Given the description of an element on the screen output the (x, y) to click on. 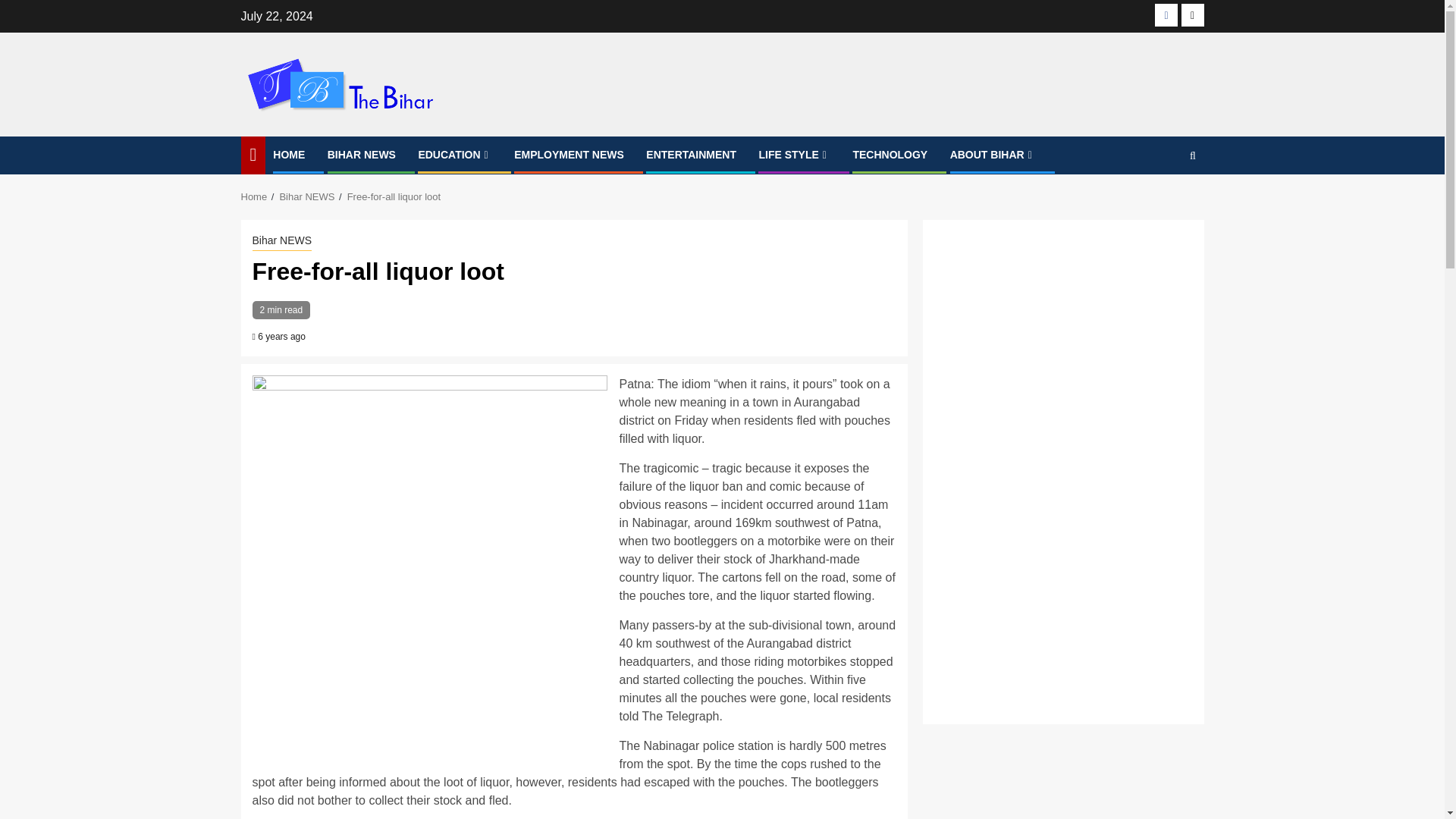
Bihar NEWS (281, 240)
Free-for-all liquor loot (394, 196)
Facebook (1165, 15)
Search (1163, 201)
LIFE STYLE (793, 154)
Home (254, 196)
BIHAR NEWS (361, 154)
EDUCATION (454, 154)
Twitter (1192, 15)
EMPLOYMENT NEWS (568, 154)
Advertisement (1062, 592)
Bihar NEWS (306, 196)
HOME (288, 154)
ABOUT BIHAR (992, 154)
ENTERTAINMENT (691, 154)
